Given the description of an element on the screen output the (x, y) to click on. 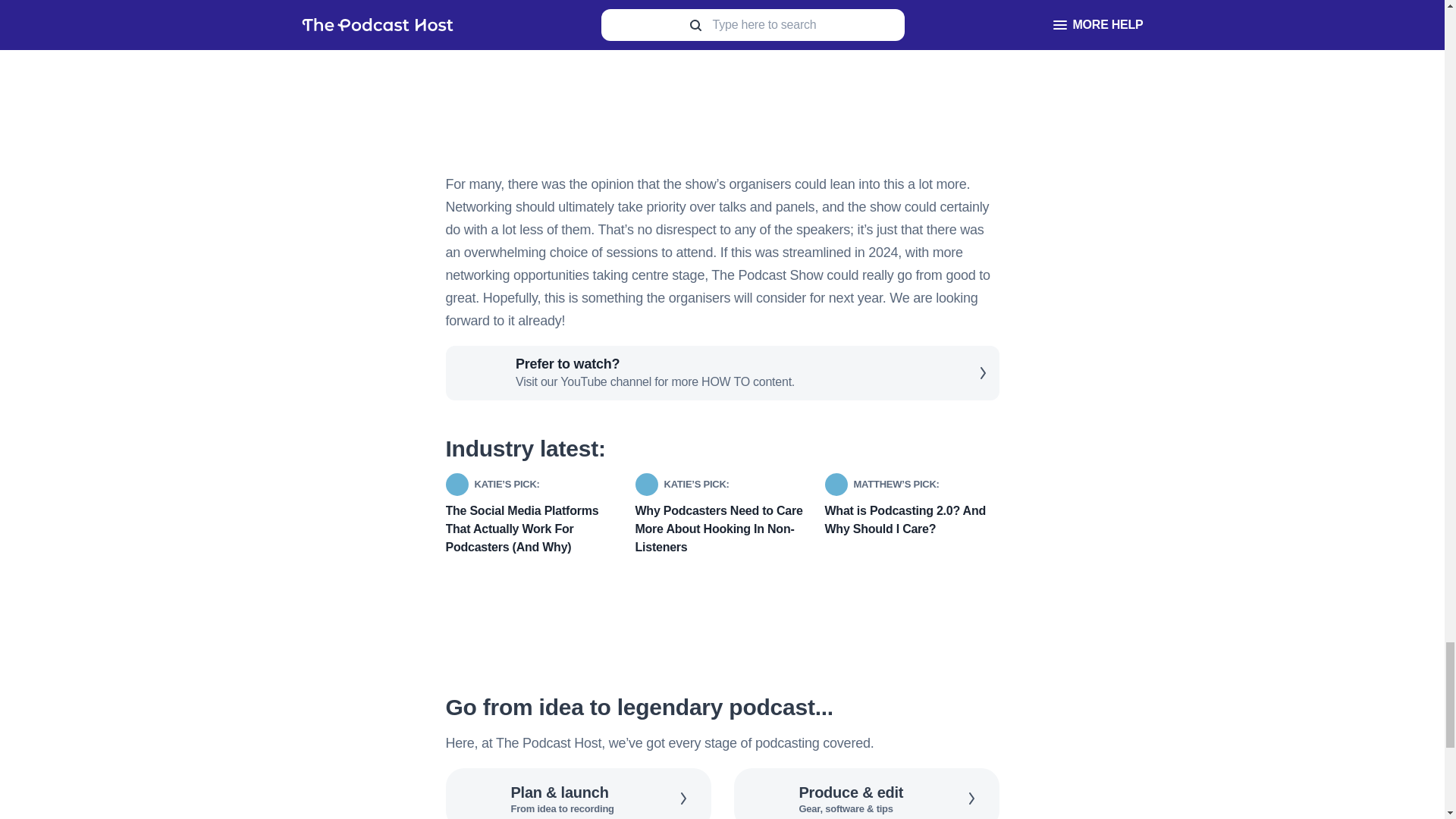
Explore (865, 793)
Click here to open our channel (721, 372)
Explore (578, 793)
